Given the description of an element on the screen output the (x, y) to click on. 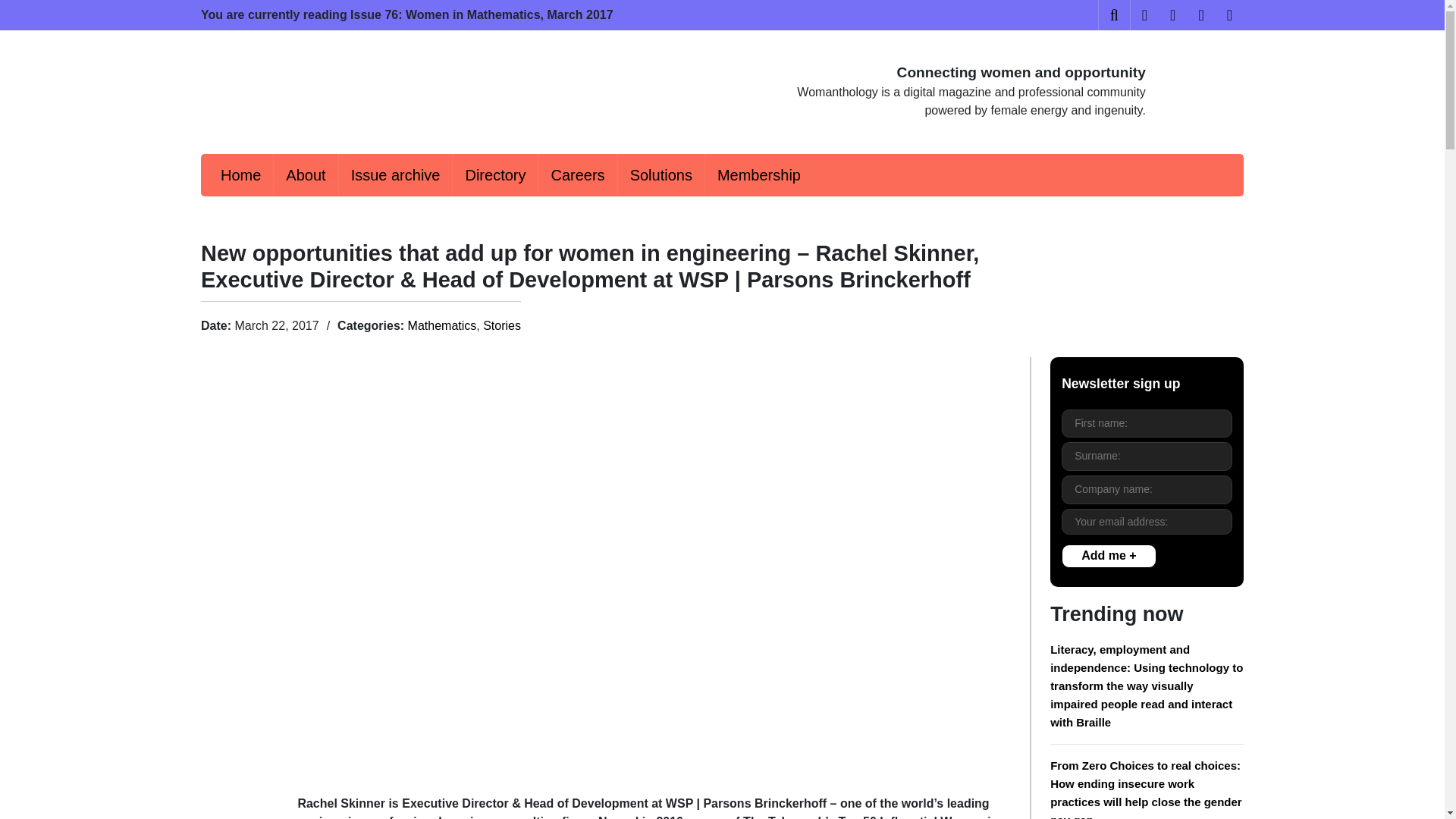
Issue archive (395, 174)
Home (240, 174)
Membership (758, 174)
Mathematics (442, 325)
Directory (494, 174)
Solutions (660, 174)
Careers (576, 174)
Stories (502, 325)
About (305, 174)
